Given the description of an element on the screen output the (x, y) to click on. 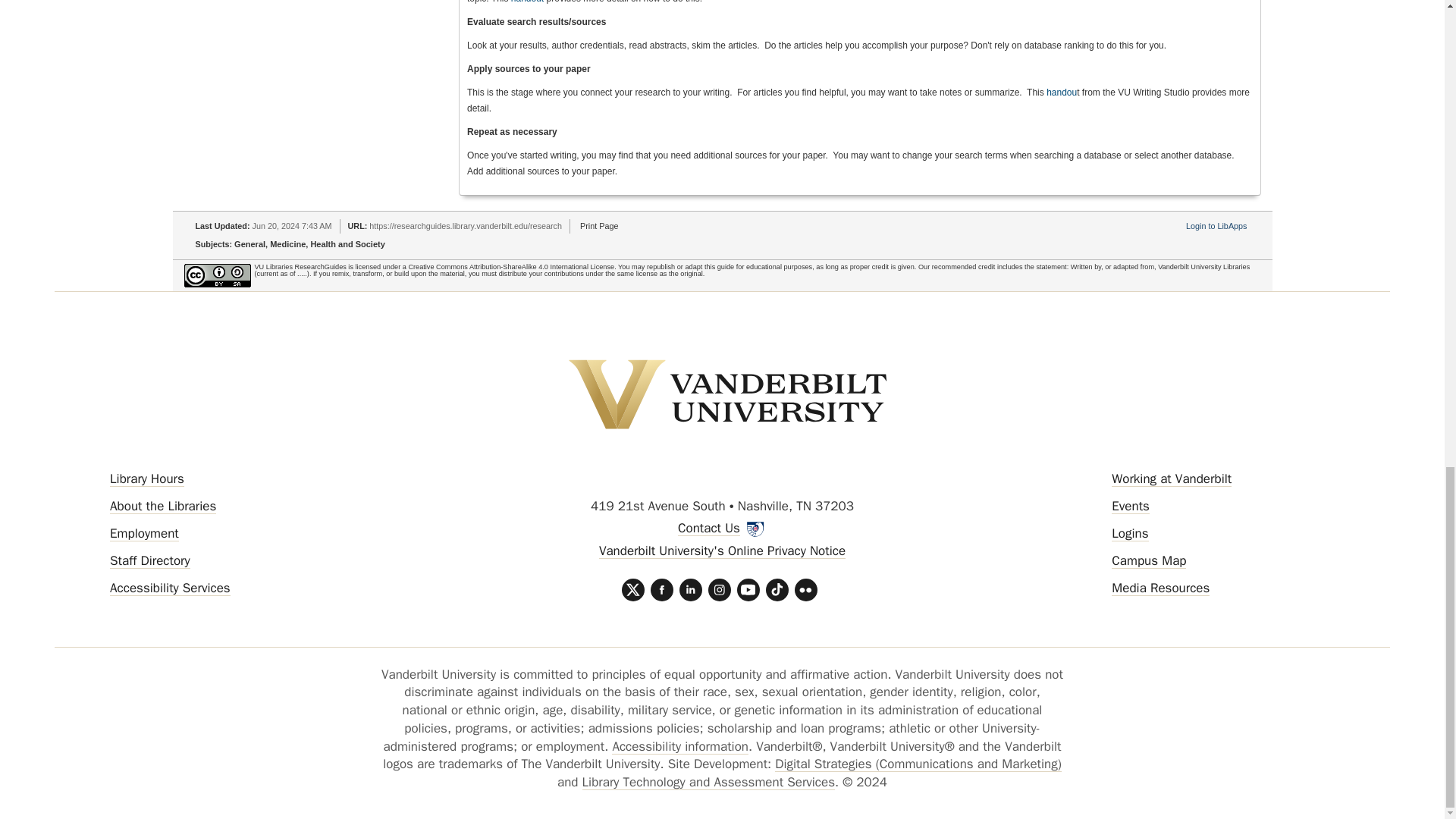
Print Page (597, 225)
handout (527, 2)
Login to LibApps (1216, 225)
handou (1061, 91)
General (249, 243)
Medicine, Health and Society (327, 243)
